Given the description of an element on the screen output the (x, y) to click on. 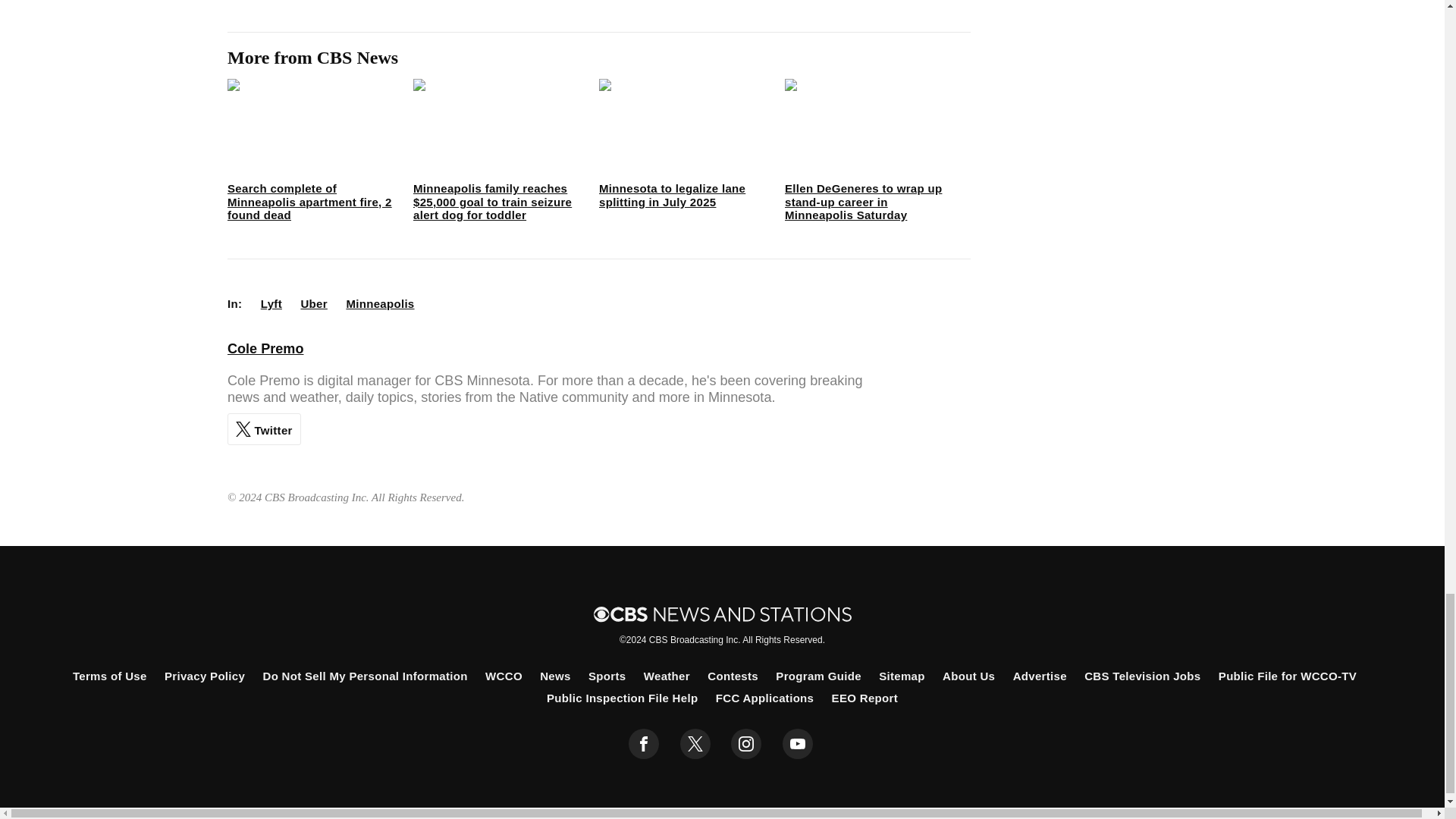
youtube (797, 743)
facebook (643, 743)
twitter (694, 743)
instagram (745, 743)
